Given the description of an element on the screen output the (x, y) to click on. 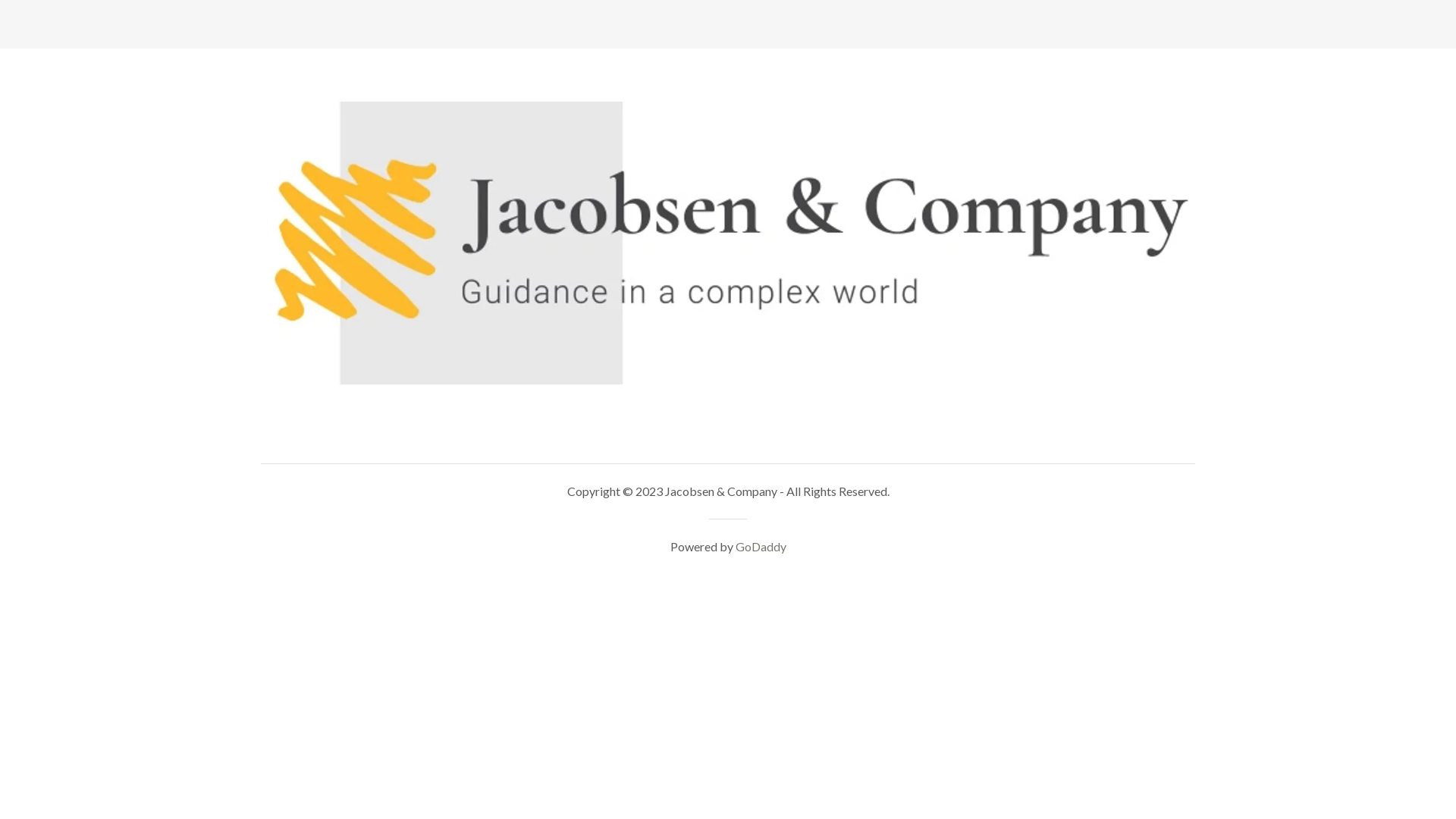
GoDaddy Element type: text (760, 546)
